Given the description of an element on the screen output the (x, y) to click on. 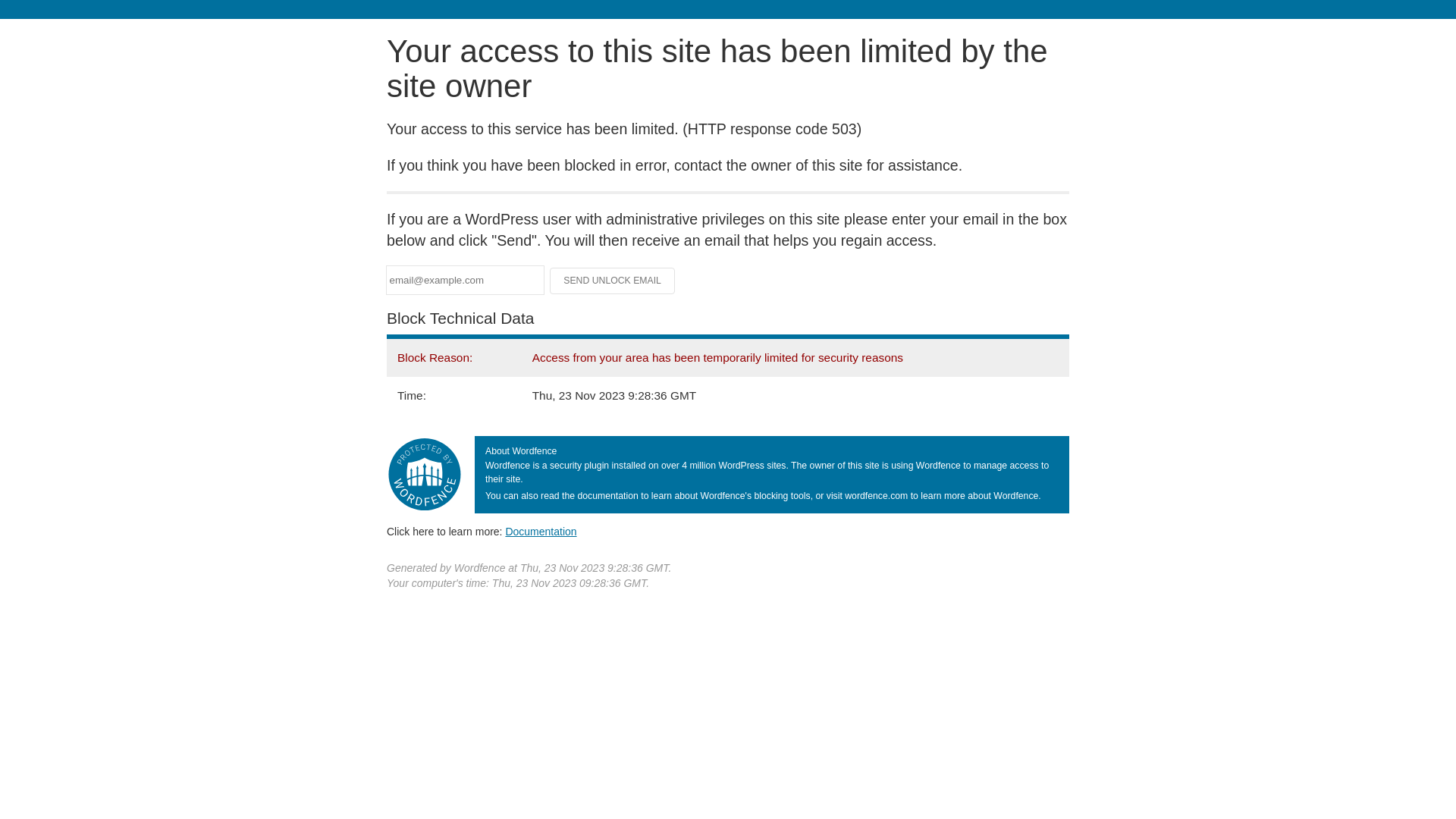
Send Unlock Email Element type: text (612, 280)
Documentation
(opens in new tab) Element type: text (540, 531)
